Given the description of an element on the screen output the (x, y) to click on. 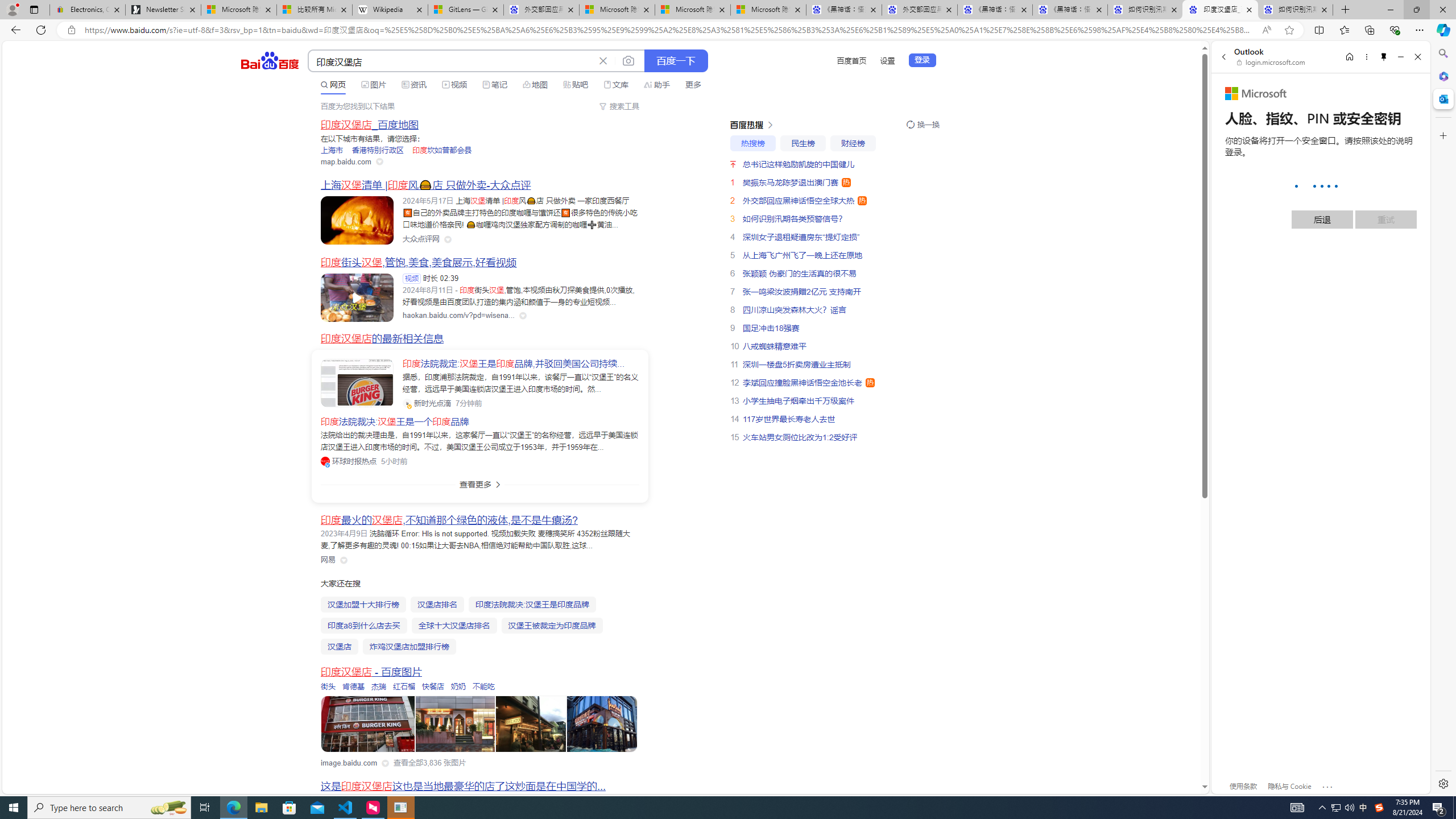
login.microsoft.com (1271, 61)
Wikipedia (389, 9)
